Given the description of an element on the screen output the (x, y) to click on. 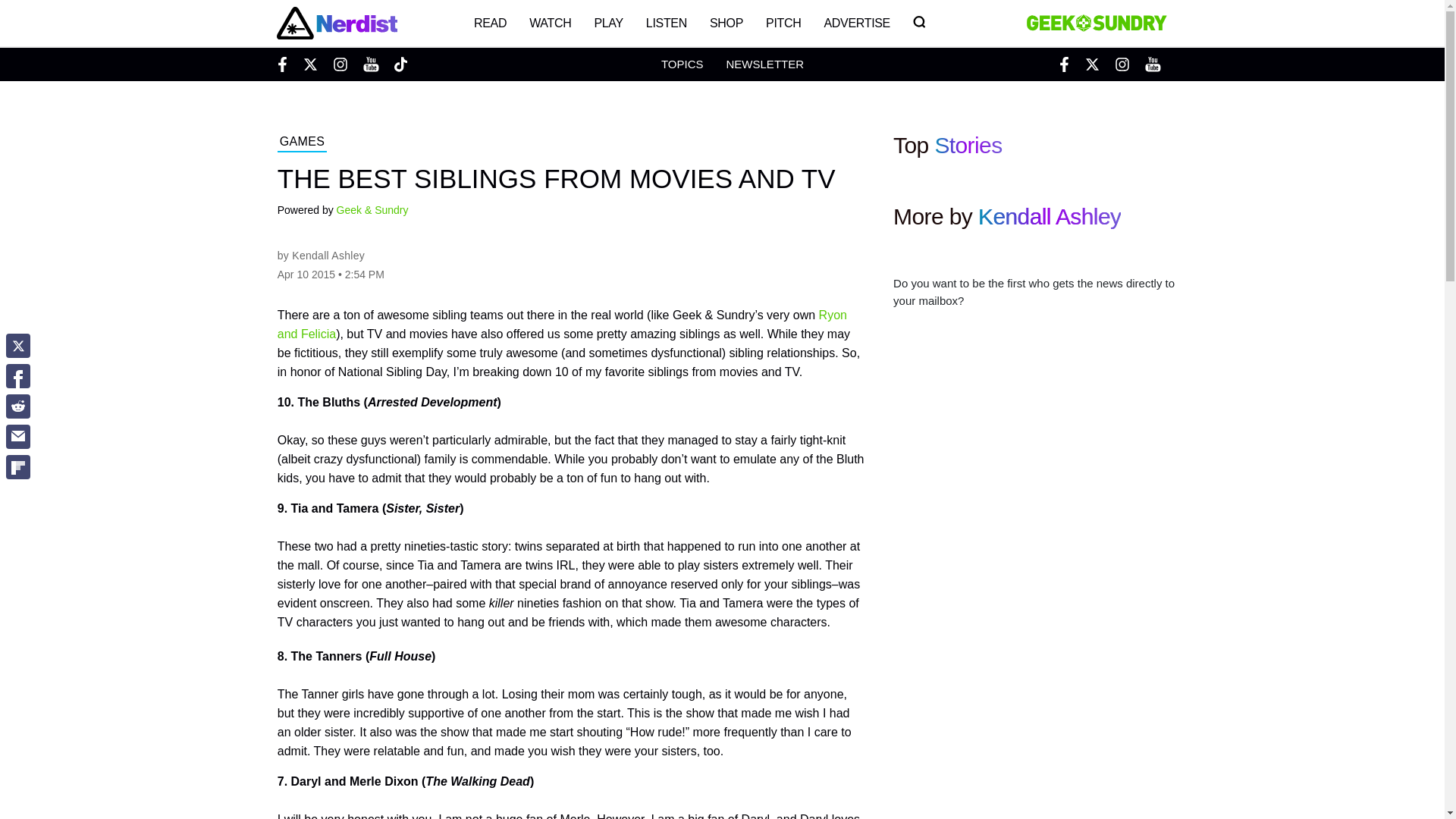
PITCH (783, 22)
TOPICS (681, 63)
Nerdist (336, 23)
READ (490, 22)
WATCH (550, 22)
GAMES (302, 143)
Youtube Nerdist (370, 63)
NEWSLETTER (764, 63)
ADVERTISE (856, 22)
SHOP (726, 22)
PLAY (607, 22)
LISTEN (666, 22)
PLAY (607, 22)
Newsletter (764, 63)
LISTEN (666, 22)
